Given the description of an element on the screen output the (x, y) to click on. 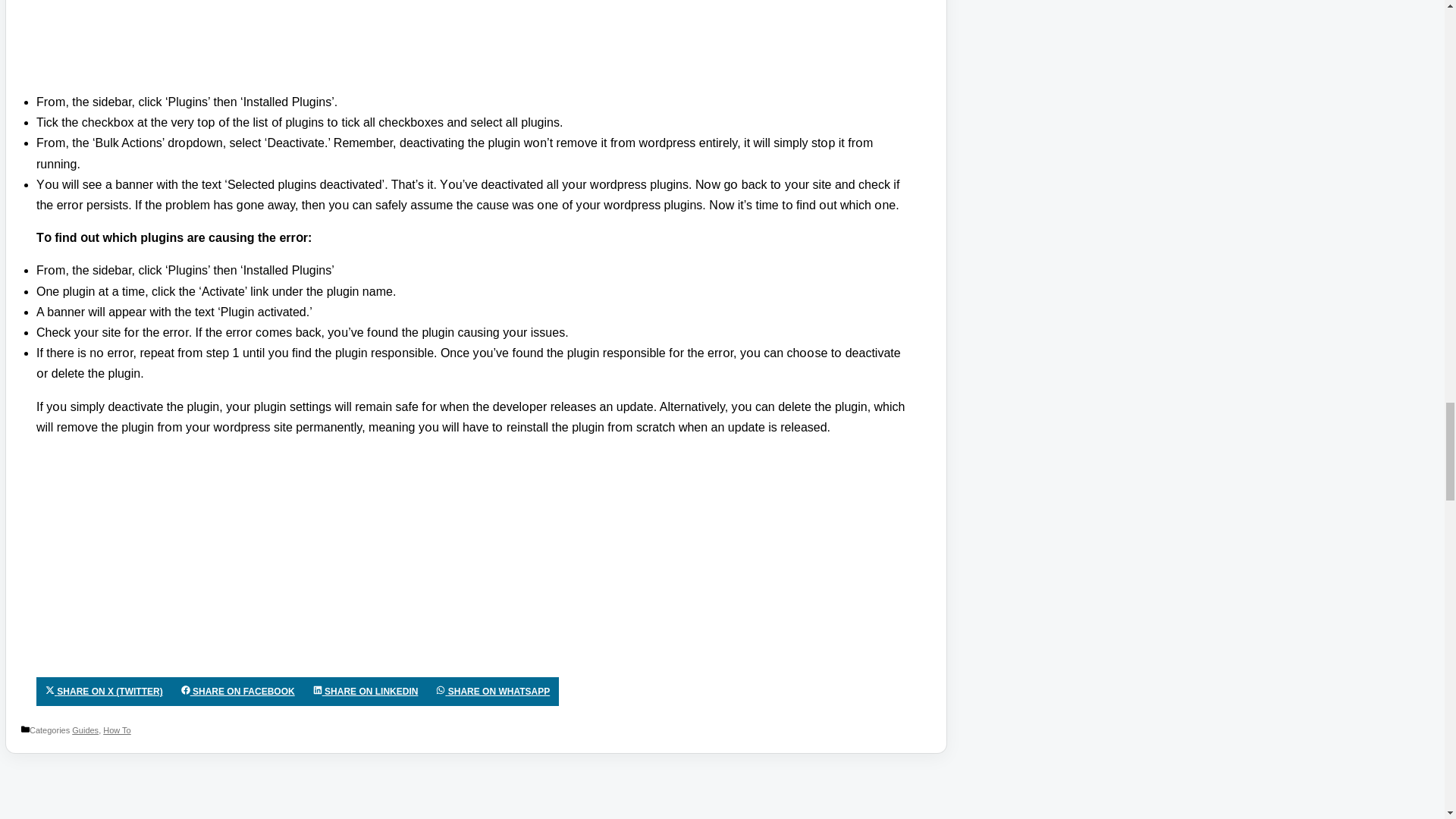
SHARE ON LINKEDIN (366, 691)
Guides (85, 729)
SHARE ON FACEBOOK (237, 691)
How To (117, 729)
SHARE ON WHATSAPP (492, 691)
